Given the description of an element on the screen output the (x, y) to click on. 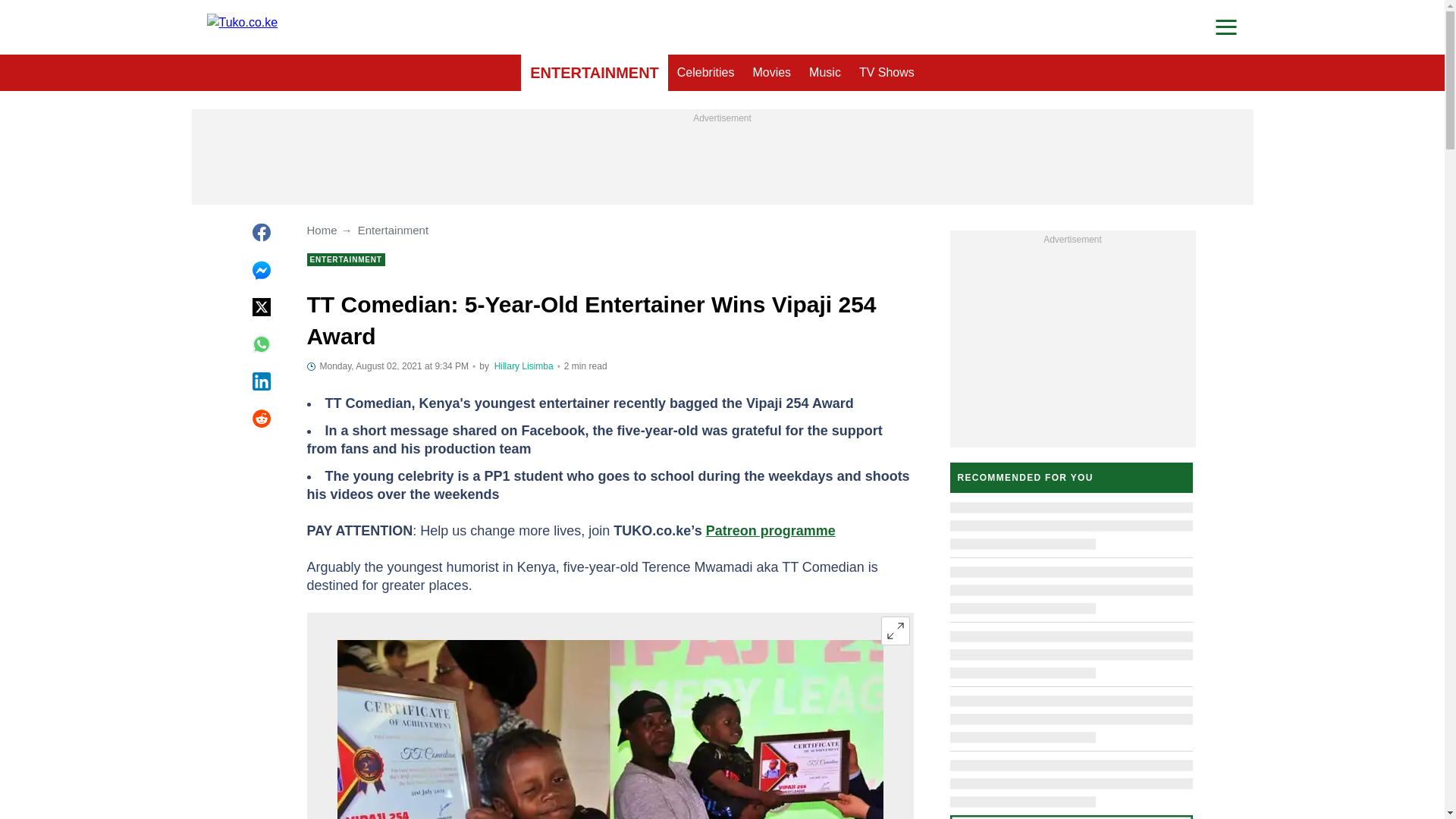
Movies (770, 72)
TT Comedian is five-years-old and hails from Kitengela. (609, 729)
Expand image (895, 630)
Author page (524, 366)
Music (824, 72)
TV Shows (886, 72)
ENTERTAINMENT (594, 72)
Celebrities (706, 72)
